Given the description of an element on the screen output the (x, y) to click on. 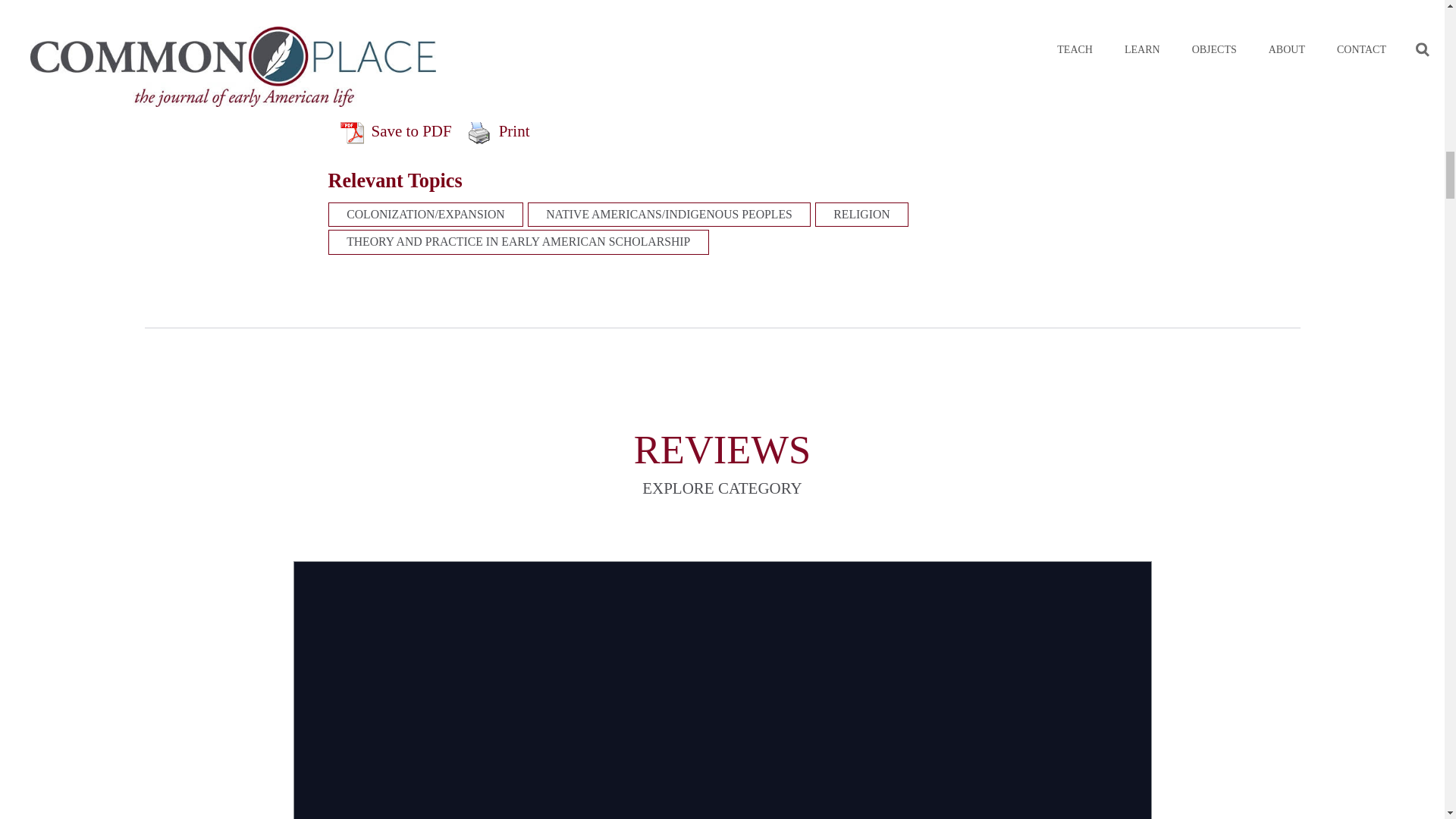
Print Content (479, 132)
Save to PDF (395, 132)
Print (498, 132)
RELIGION (861, 214)
THEORY AND PRACTICE IN EARLY AMERICAN SCHOLARSHIP (517, 241)
View PDF (350, 132)
